Given the description of an element on the screen output the (x, y) to click on. 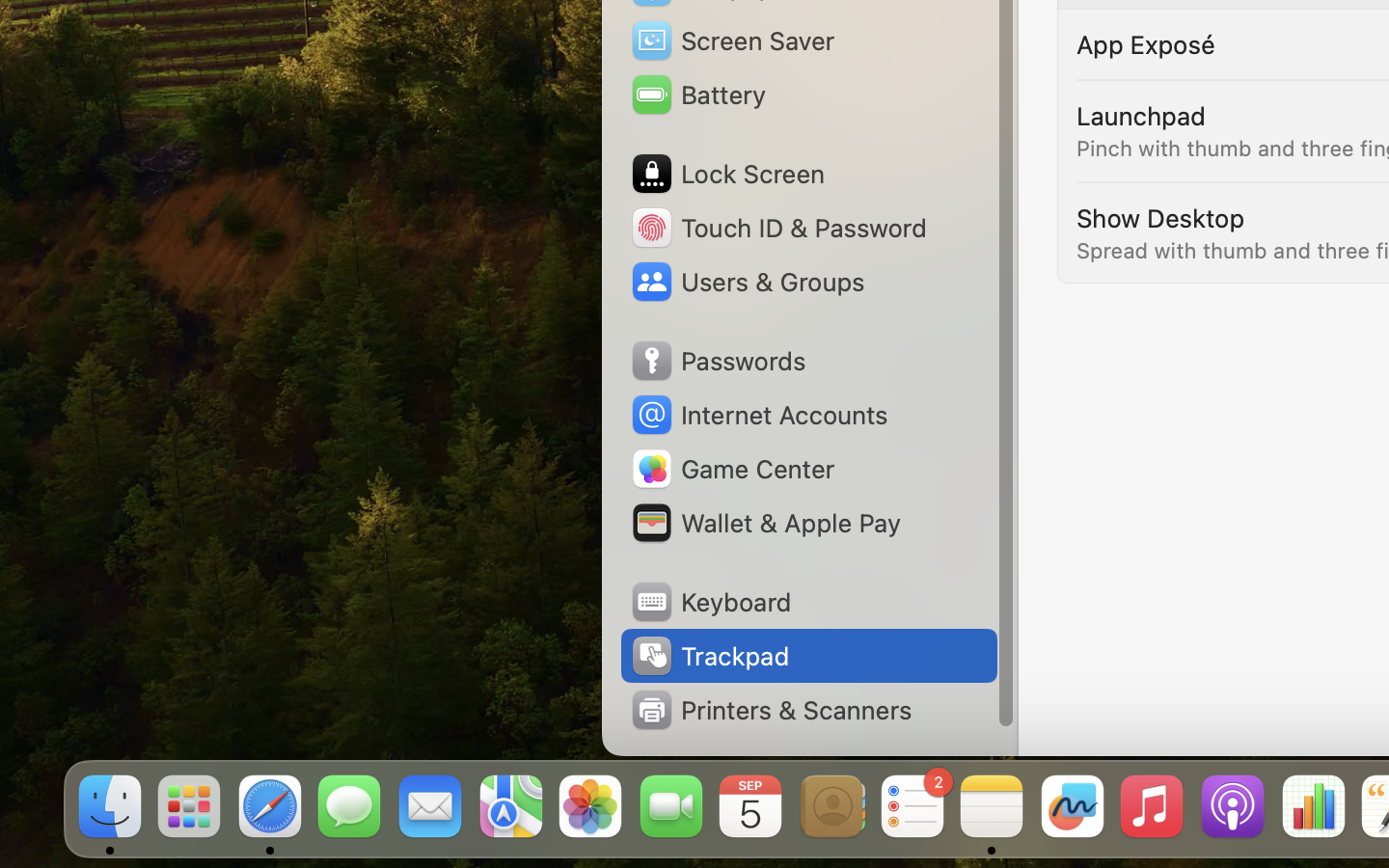
Keyboard Element type: AXStaticText (709, 601)
Screen Saver Element type: AXStaticText (731, 40)
Launchpad Element type: AXStaticText (1140, 115)
Printers & Scanners Element type: AXStaticText (770, 709)
Passwords Element type: AXStaticText (717, 360)
